Given the description of an element on the screen output the (x, y) to click on. 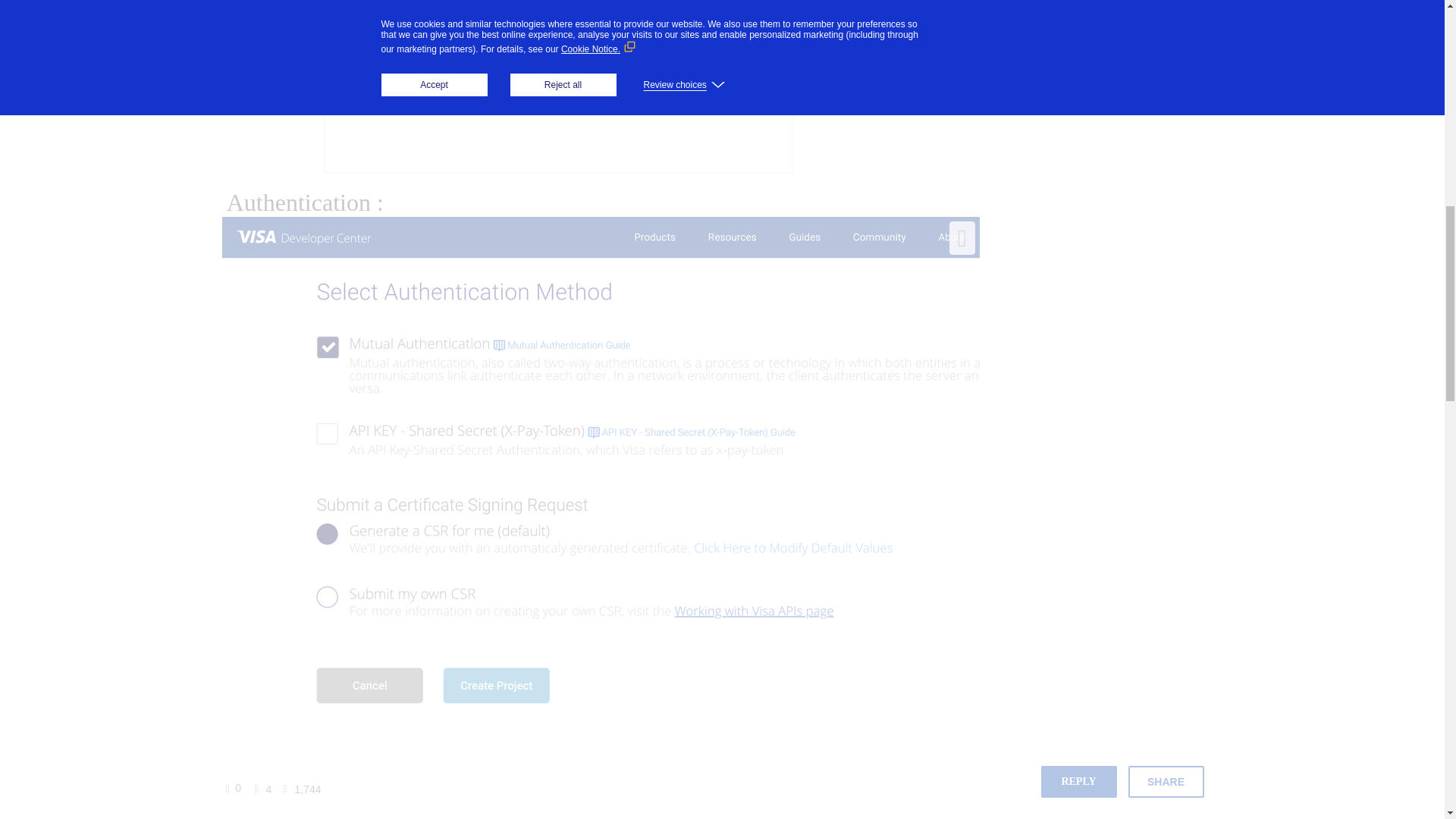
Replies (253, 788)
Click here to give kudos to this post. (231, 788)
The total number of kudos this post has received. (237, 787)
